Given the description of an element on the screen output the (x, y) to click on. 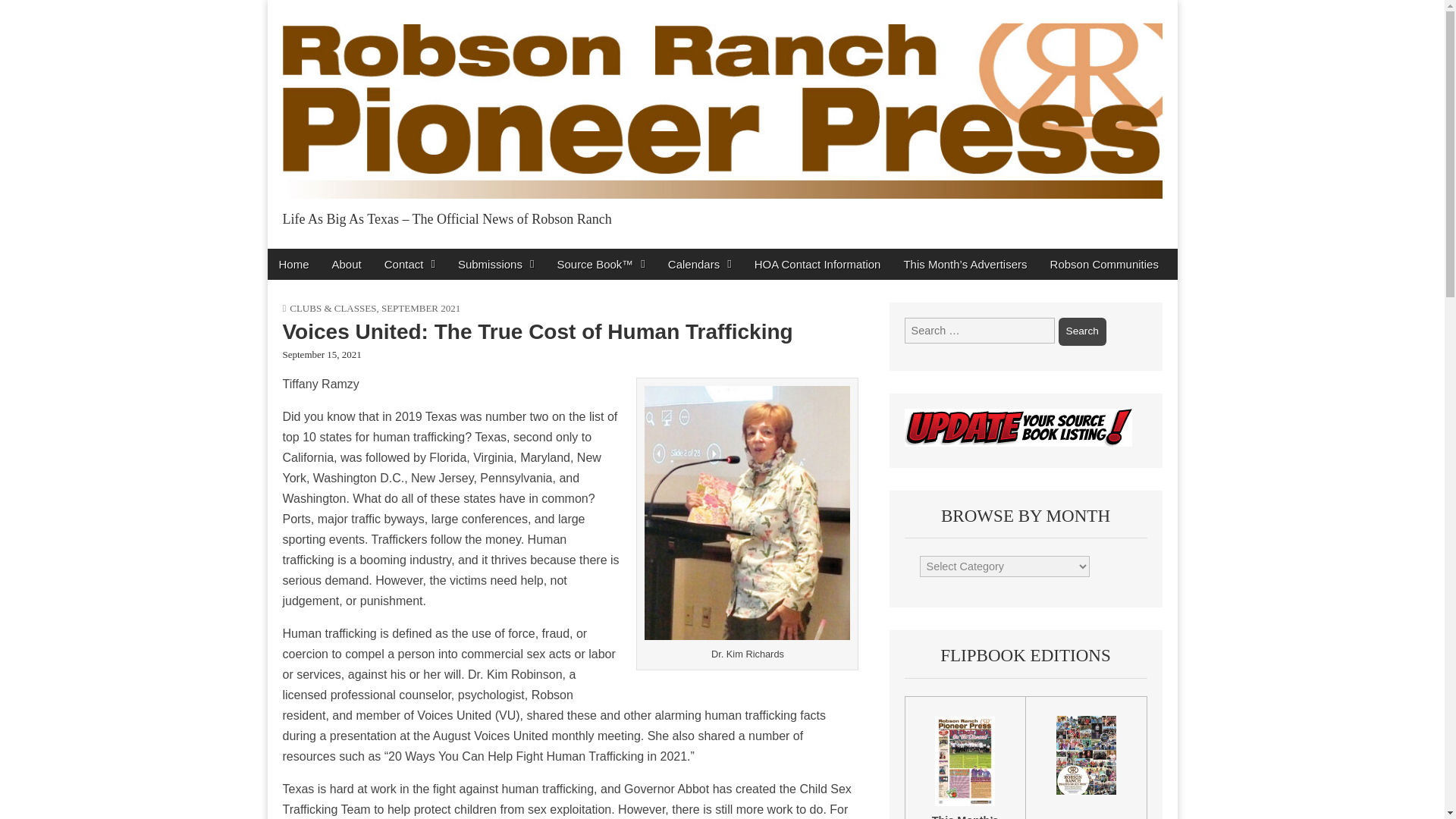
Contact (409, 264)
Search (1082, 330)
About (346, 264)
Robson Ranch Pioneer Press (491, 252)
Calendars (699, 264)
SEPTEMBER 2021 (420, 307)
Home (293, 264)
Robson Communities (1104, 264)
Submissions (496, 264)
Search (1082, 330)
Robson Ranch Pioneer Press (491, 252)
HOA Contact Information (817, 264)
